Given the description of an element on the screen output the (x, y) to click on. 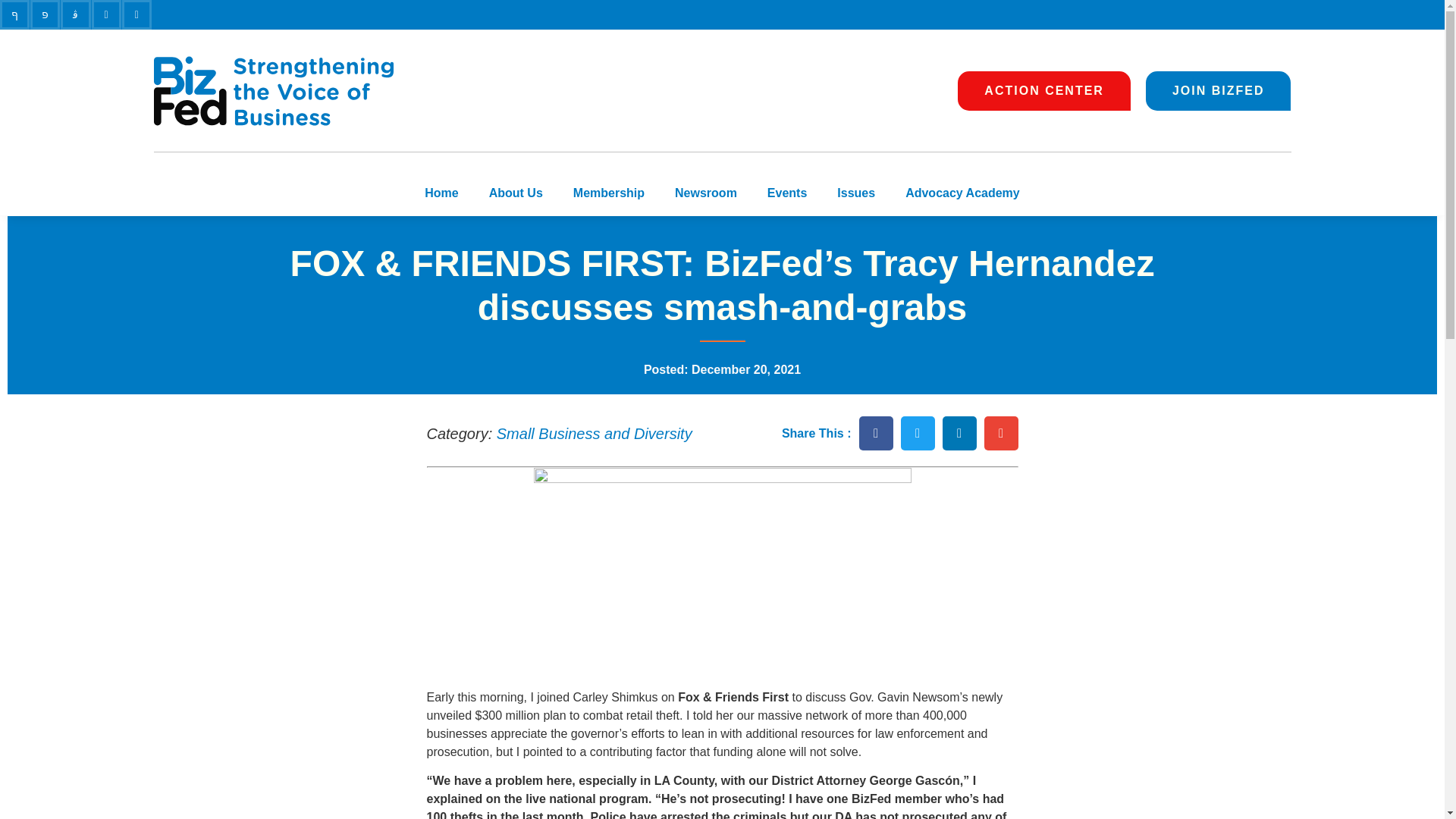
Home (441, 193)
ACTION CENTER (1044, 90)
JOIN BIZFED (1218, 90)
Membership (608, 193)
About Us (515, 193)
